Given the description of an element on the screen output the (x, y) to click on. 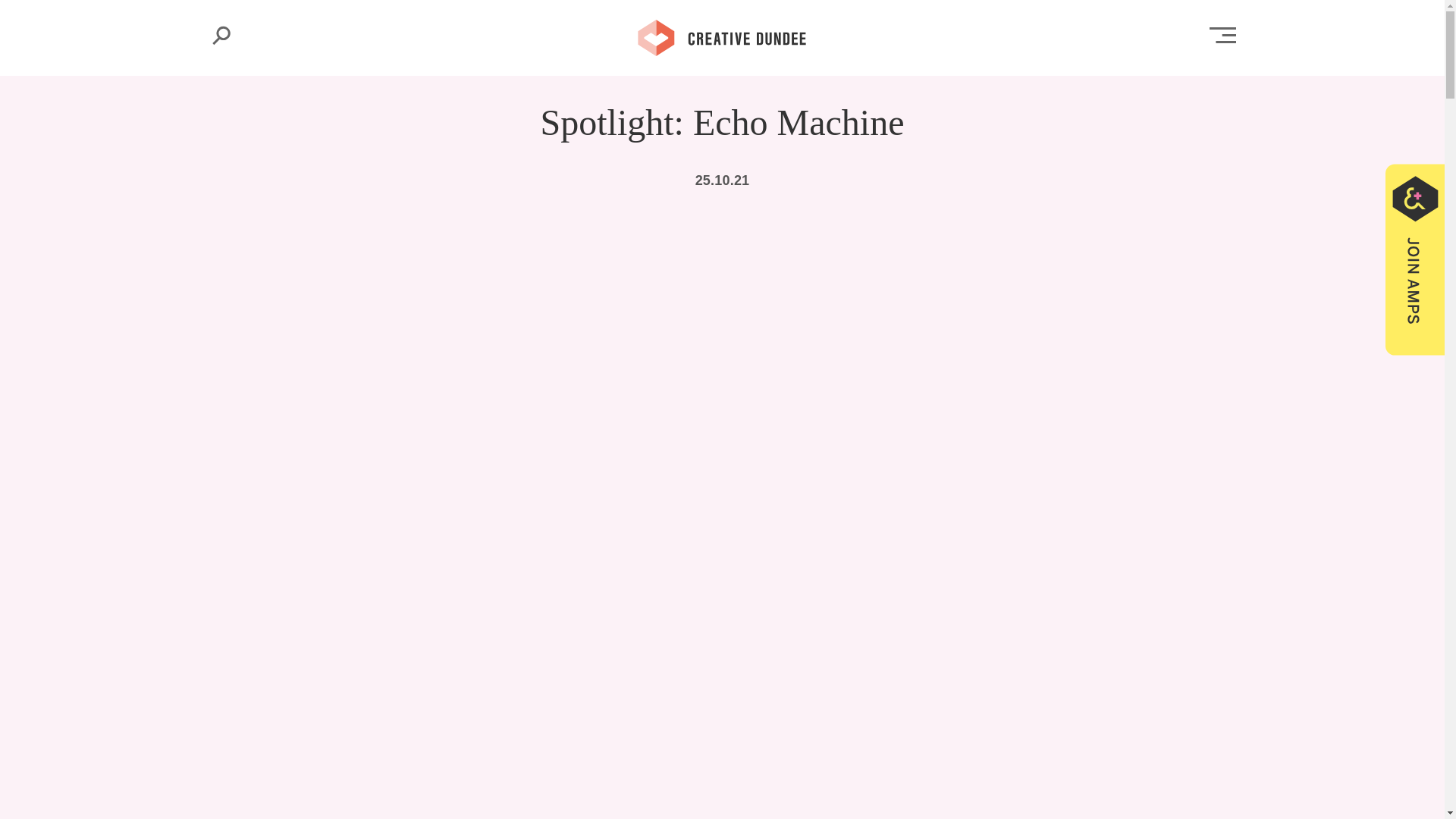
Creative Dundee (721, 36)
Open Main Menu (1222, 35)
Search (221, 34)
